Given the description of an element on the screen output the (x, y) to click on. 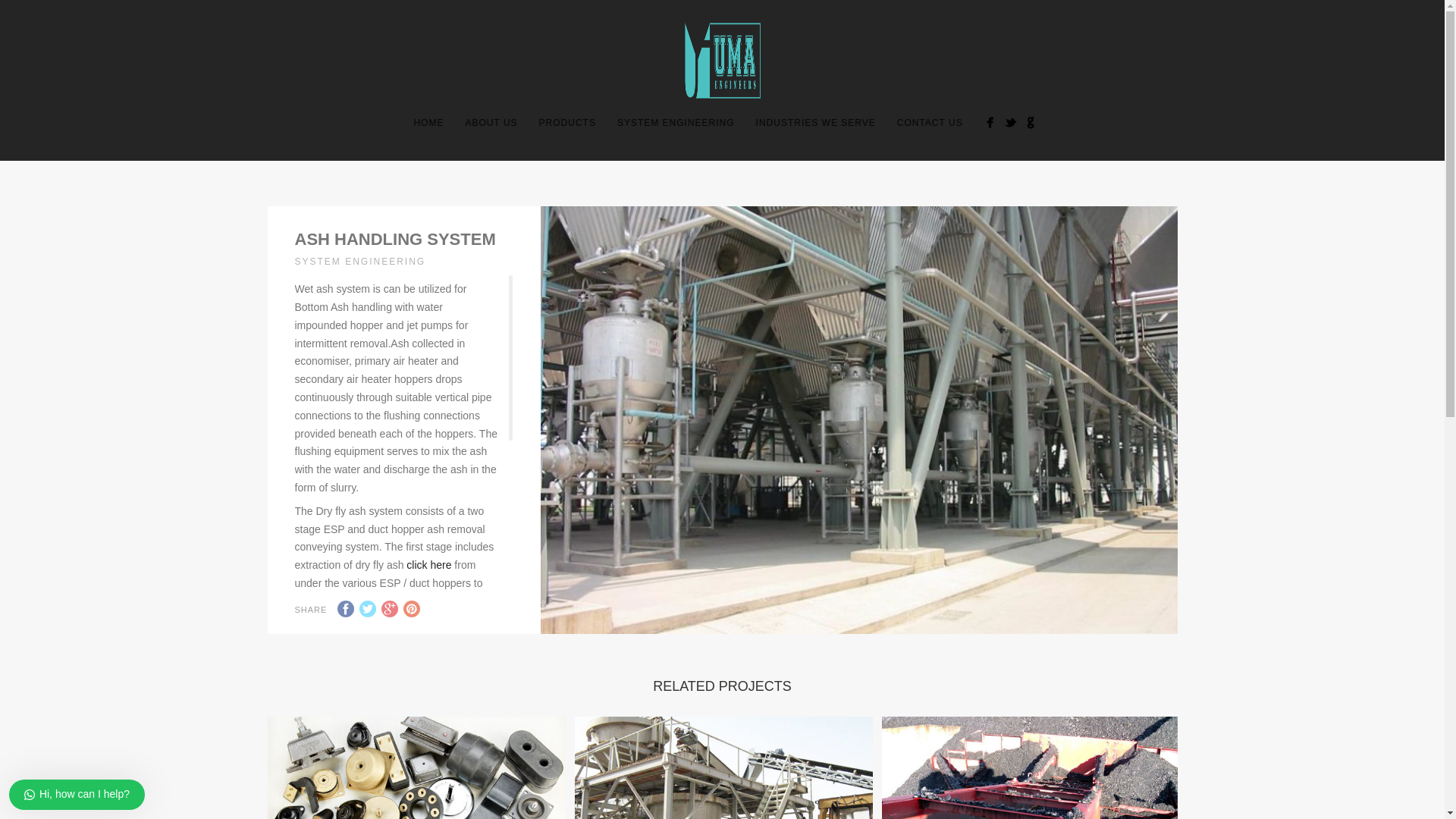
SYSTEM ENGINEERING (676, 122)
INDUSTRIES WE SERVE (815, 122)
ABOUT US (490, 122)
Bulk Material Handling System (1029, 767)
Follow Us on Google Plus (1031, 122)
Like Us on Facebook (988, 122)
Follow Us on Twitter (1010, 122)
CONTACT US (930, 122)
Pinterest (411, 608)
Anti Vibration Pads (723, 767)
Facebook (415, 767)
PRODUCTS (345, 608)
